Given the description of an element on the screen output the (x, y) to click on. 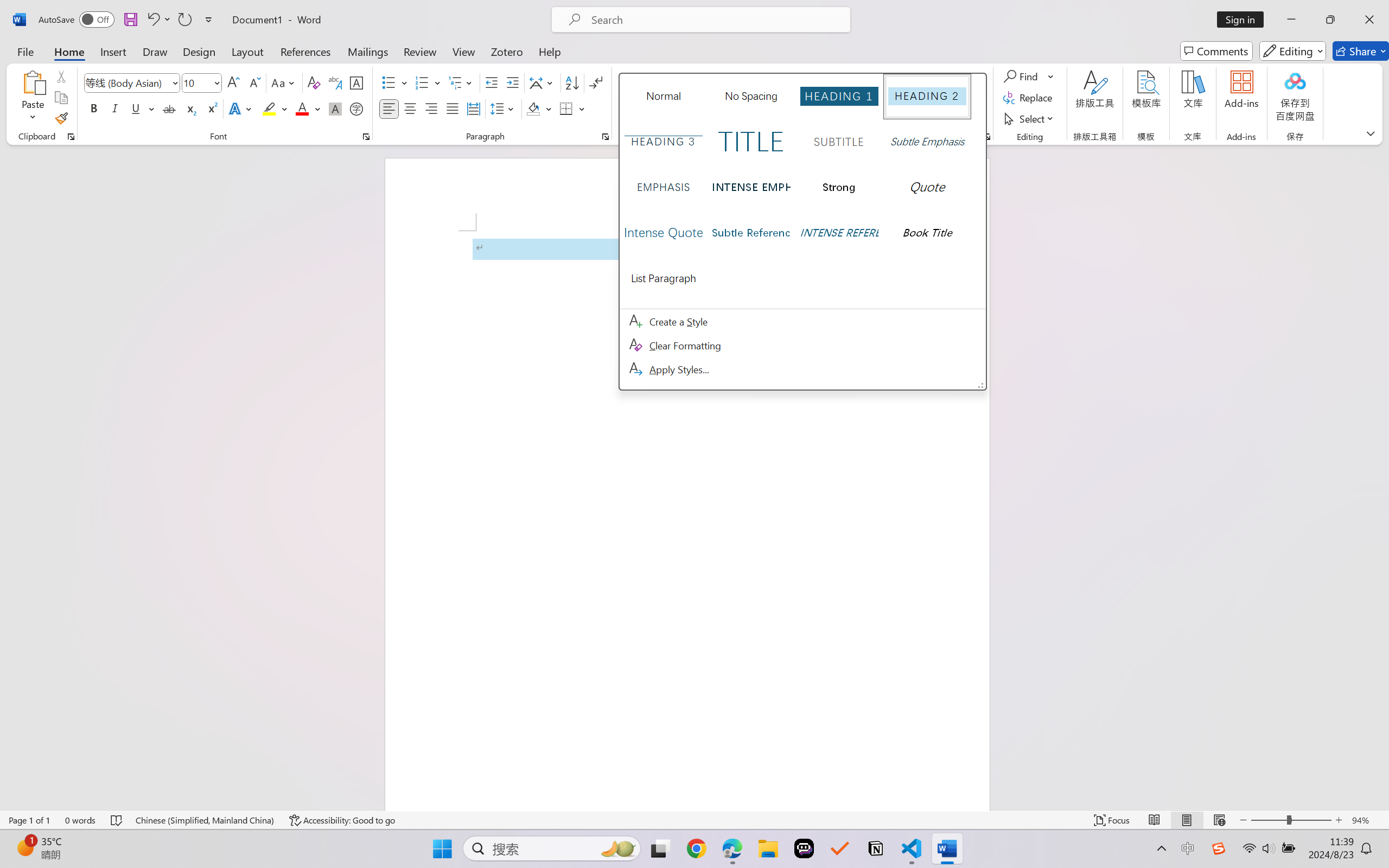
Sign in (1244, 19)
